Given the description of an element on the screen output the (x, y) to click on. 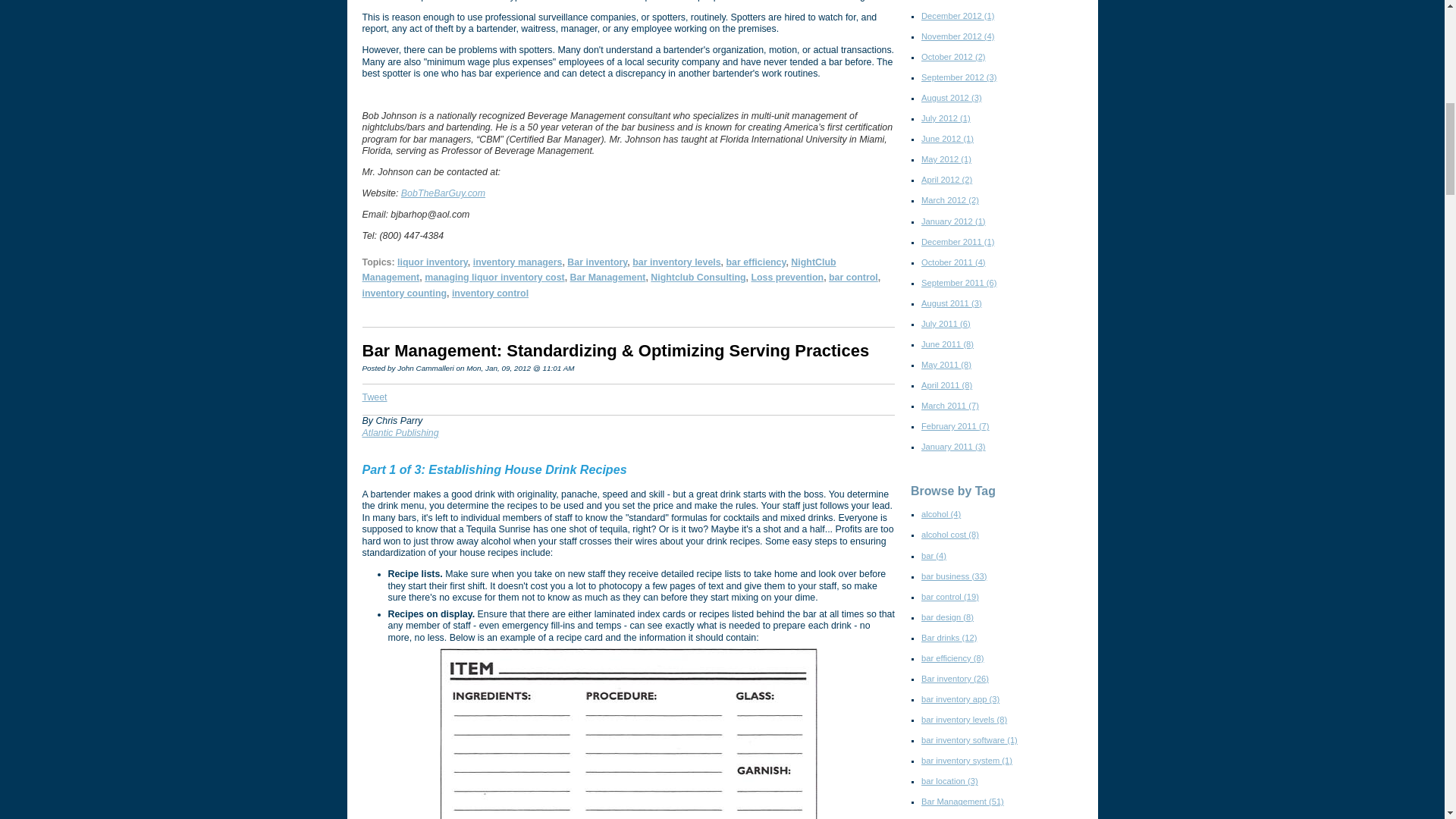
BobTheBarGuy.com (442, 193)
liquor inventory (432, 262)
Bar inventory (597, 262)
Atlantic Publishing (400, 432)
bar inventory levels (675, 262)
bar efficiency (756, 262)
inventory managers (517, 262)
BobTheBarGuy.com (442, 193)
